Given the description of an element on the screen output the (x, y) to click on. 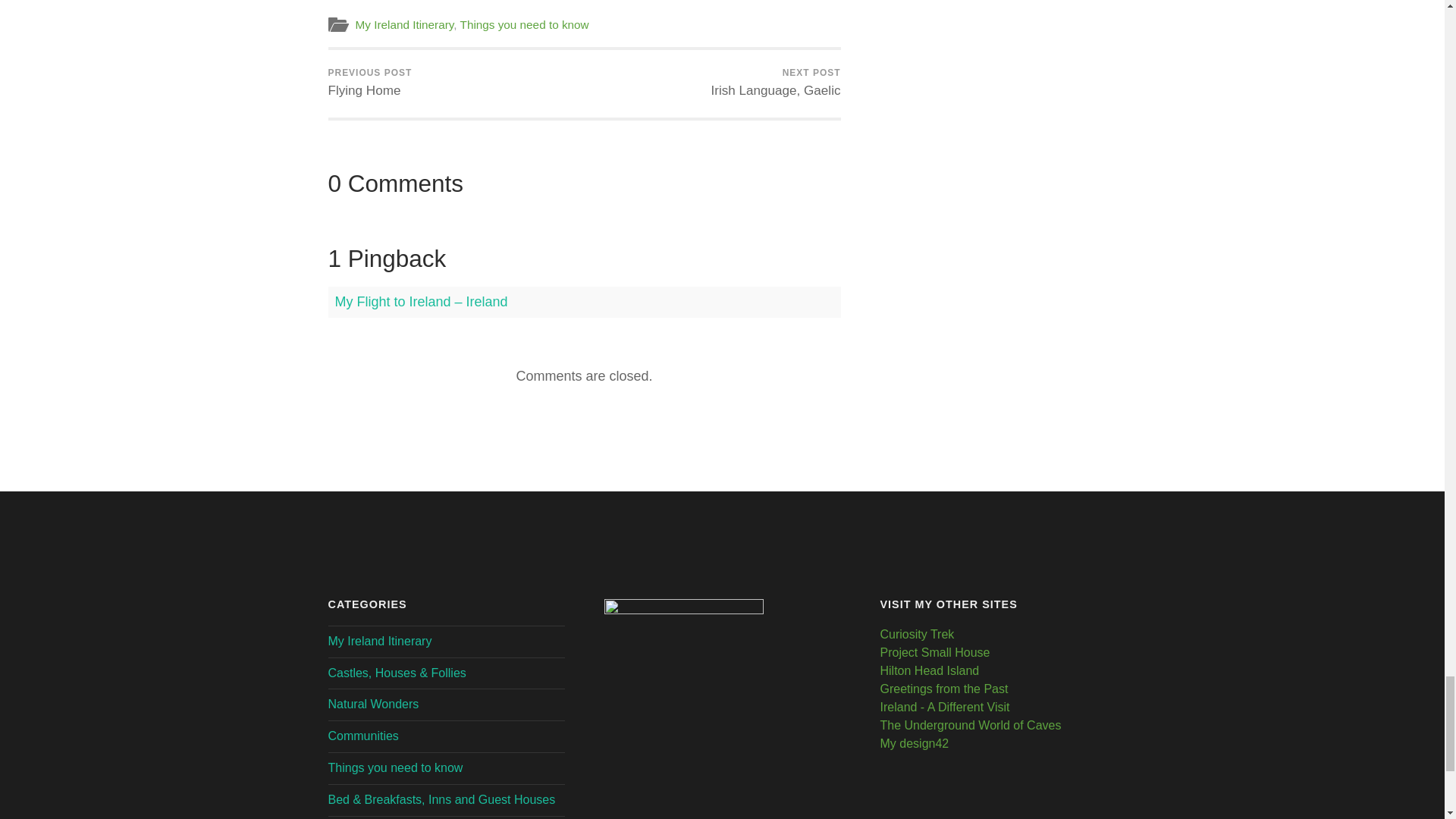
Things you need to know (775, 83)
My Ireland Itinerary (524, 24)
